Given the description of an element on the screen output the (x, y) to click on. 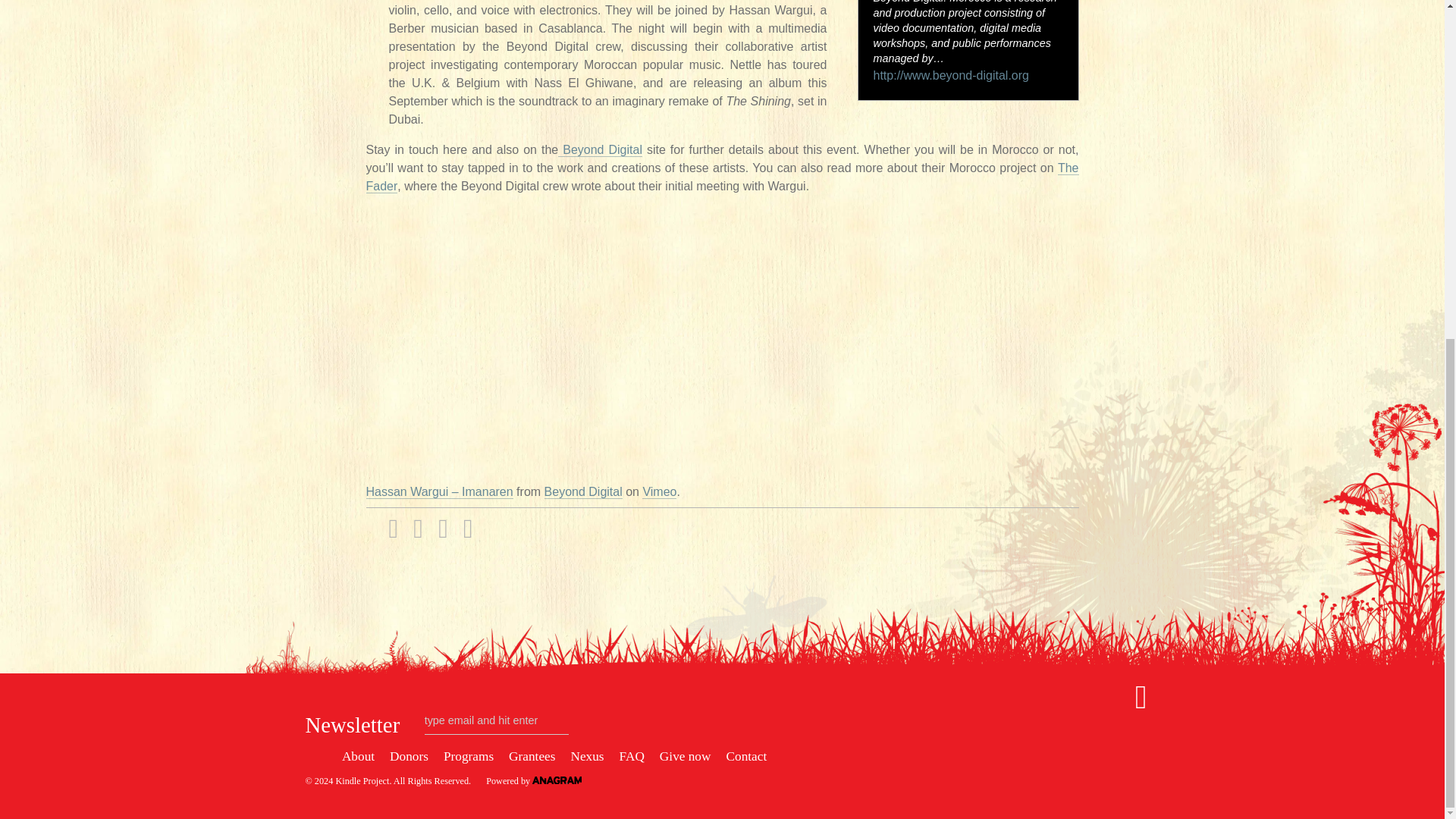
About (358, 756)
Grantees (531, 756)
Vimeo (659, 491)
Beyond Digital (583, 491)
Programs (468, 756)
The Fader (721, 177)
Beyond Digital (599, 150)
Donors (409, 756)
join (322, 755)
Brave Ideas for Systems in Crisis (361, 780)
